Given the description of an element on the screen output the (x, y) to click on. 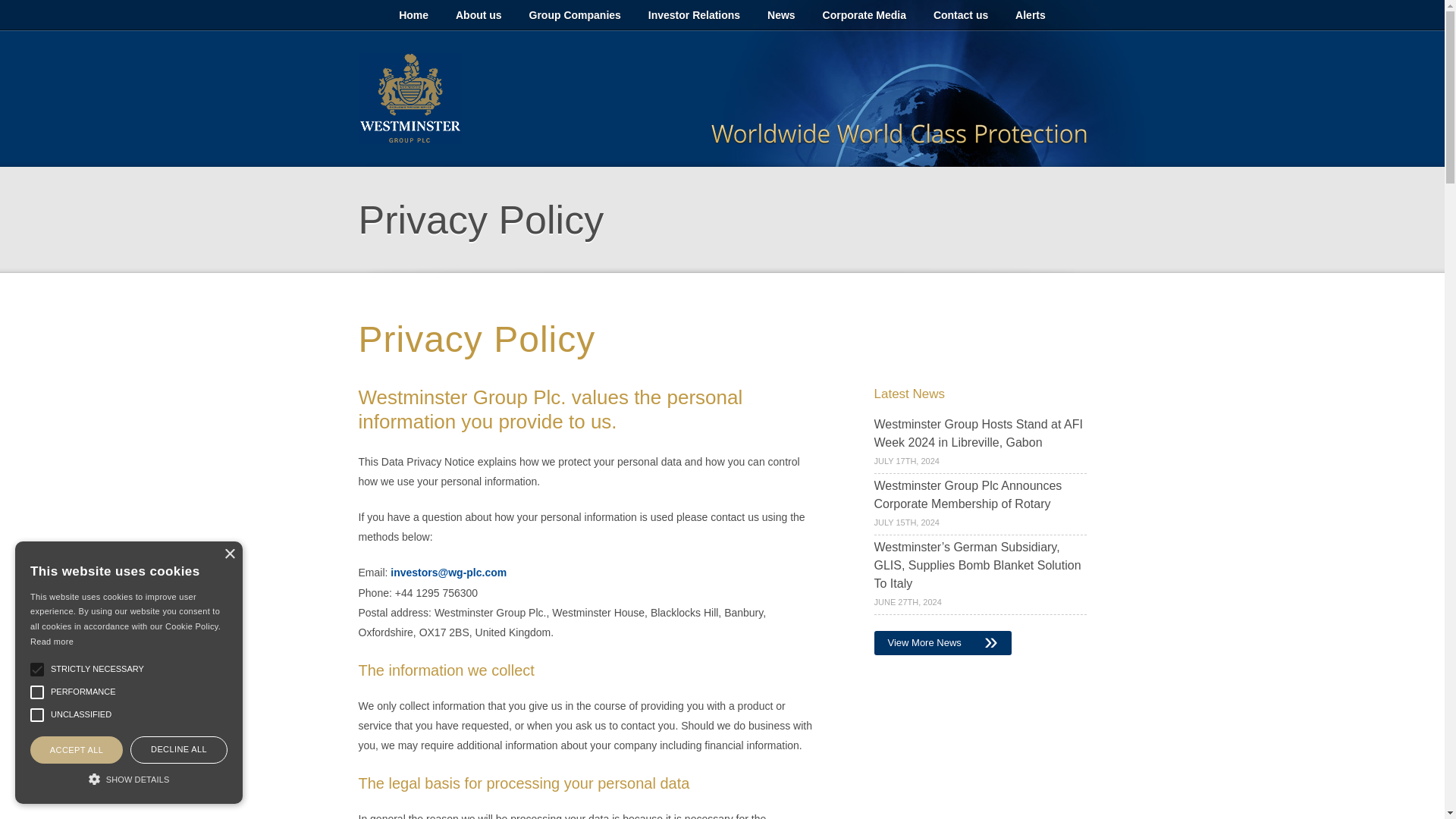
Westminster Group Corporate (409, 98)
Home (414, 15)
Alerts (1030, 15)
Corporate Media (864, 15)
Contact us (960, 15)
News (781, 15)
Group Companies (574, 15)
Investor Relations (694, 15)
Westminster Group Corporate (409, 98)
About us (478, 15)
